Given the description of an element on the screen output the (x, y) to click on. 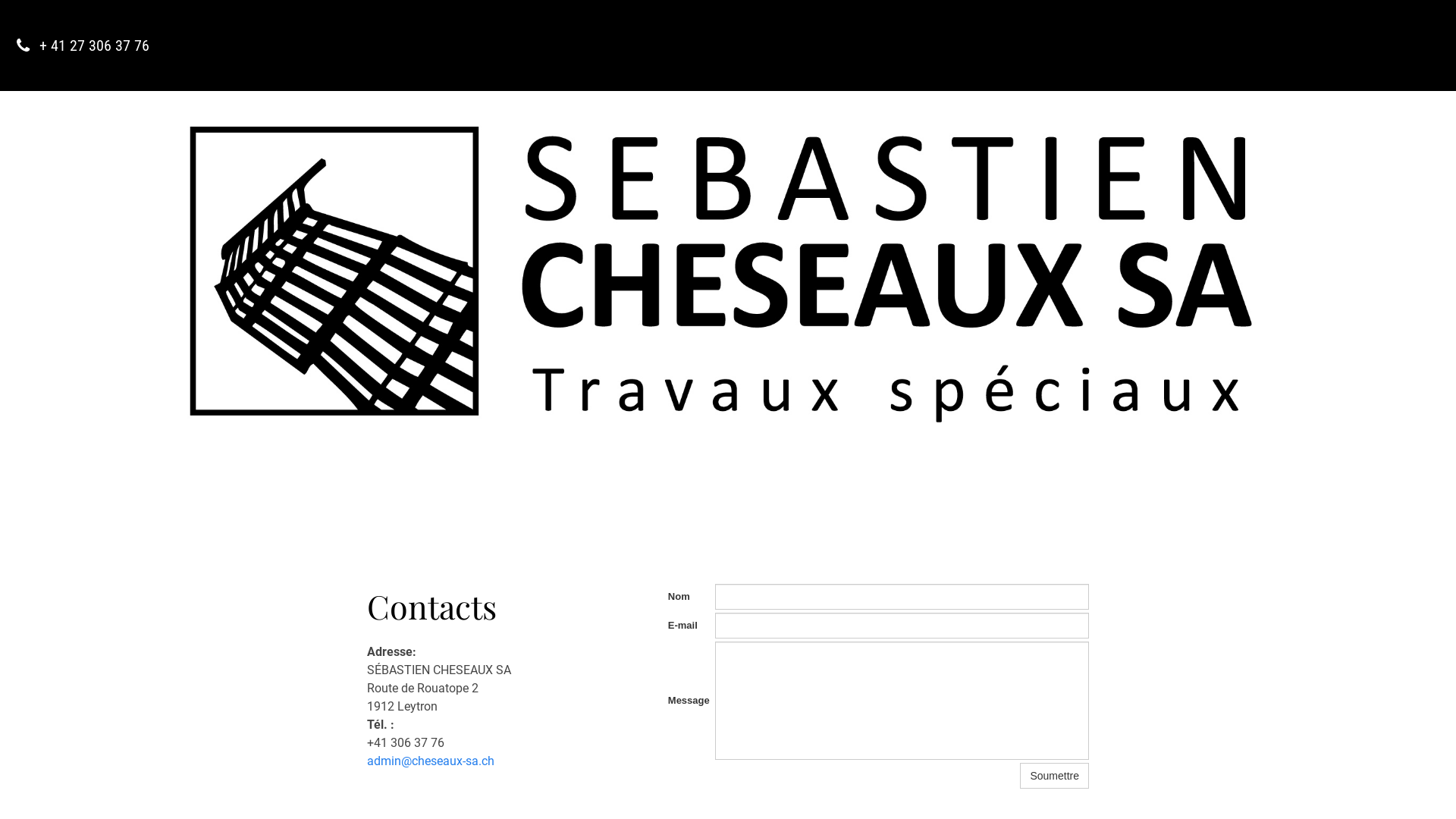
Soumettre Element type: text (1053, 775)
admin@cheseaux-sa.ch Element type: text (430, 760)
